Given the description of an element on the screen output the (x, y) to click on. 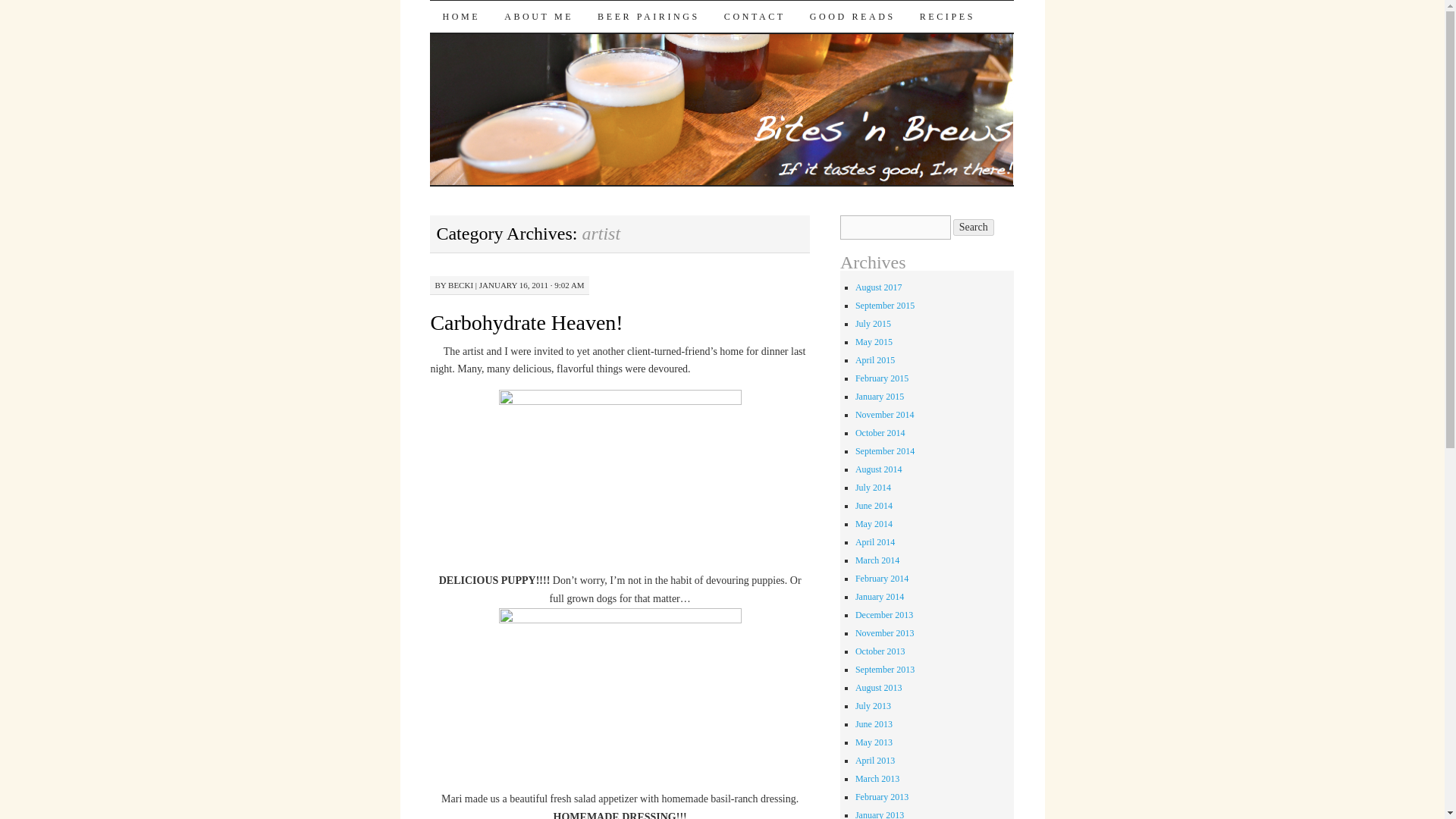
ABOUT ME (538, 16)
August 2014 (879, 469)
Search (973, 227)
RECIPES (947, 16)
August 2017 (879, 286)
July 2014 (873, 487)
July 2015 (873, 323)
October 2014 (880, 432)
Bites 'n Brews (521, 26)
BEER PAIRINGS (648, 16)
April 2015 (875, 359)
May 2015 (874, 341)
HOME (460, 16)
September 2014 (885, 450)
BECKI (460, 284)
